Given the description of an element on the screen output the (x, y) to click on. 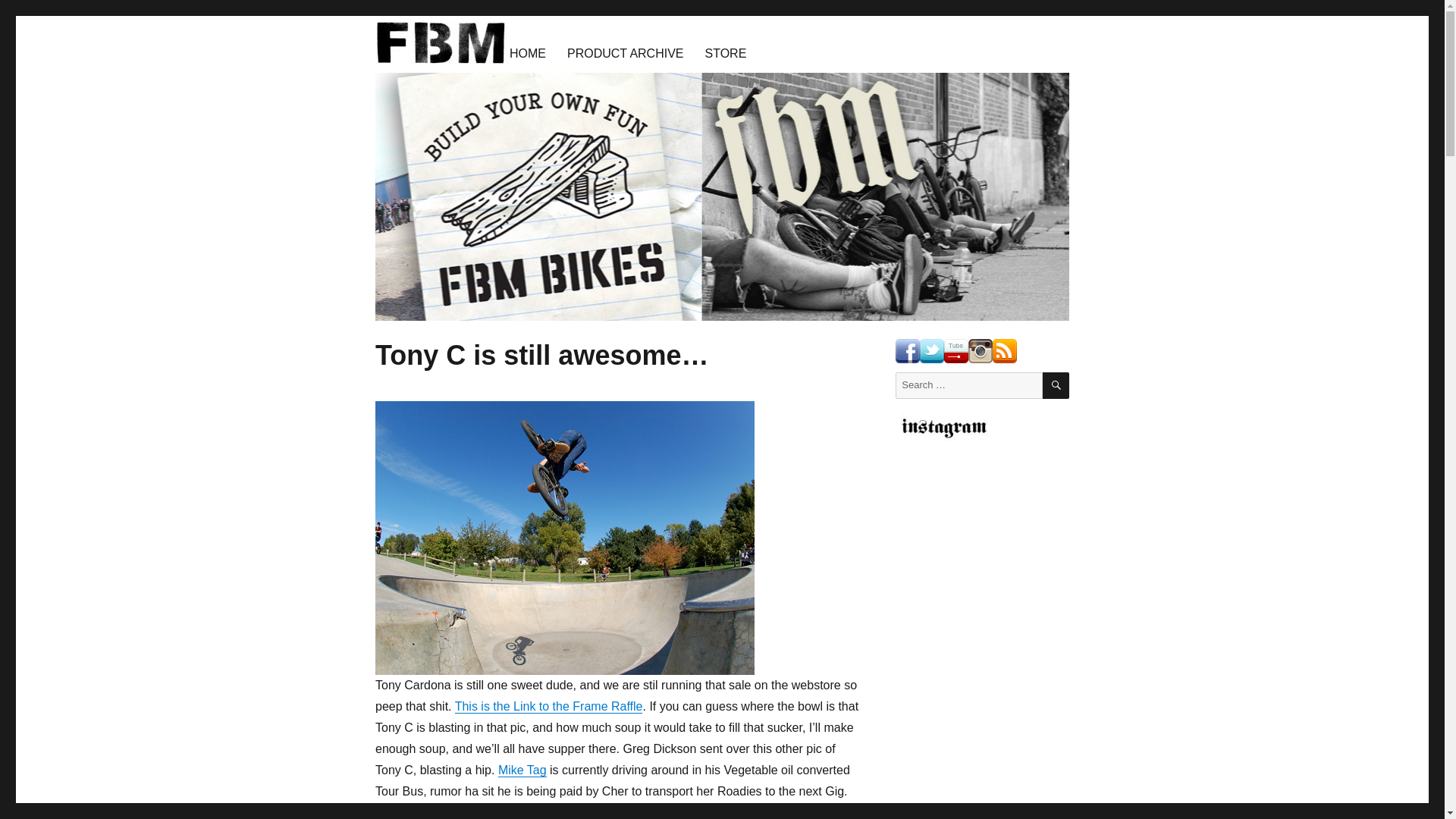
HOME (527, 52)
This is the Link to the Frame Raffle (548, 706)
facebook (907, 351)
twitter (931, 351)
Mike Tag (522, 769)
STORE (725, 52)
SEARCH (1055, 385)
instagram (980, 351)
rss (1004, 351)
PRODUCT ARCHIVE (625, 52)
